Given the description of an element on the screen output the (x, y) to click on. 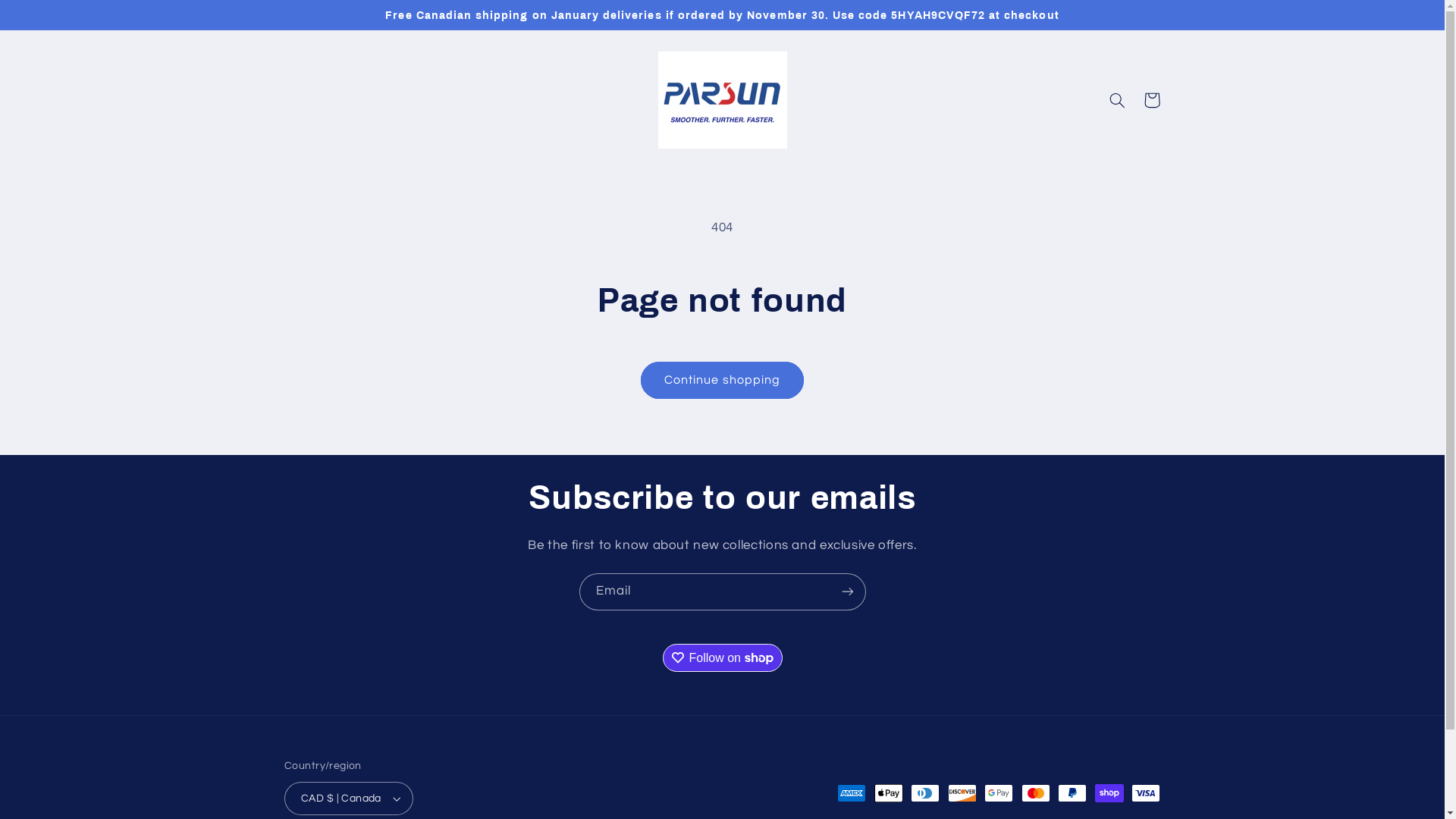
Cart Element type: text (1151, 99)
CAD $ | Canada Element type: text (348, 798)
Continue shopping Element type: text (722, 379)
